Given the description of an element on the screen output the (x, y) to click on. 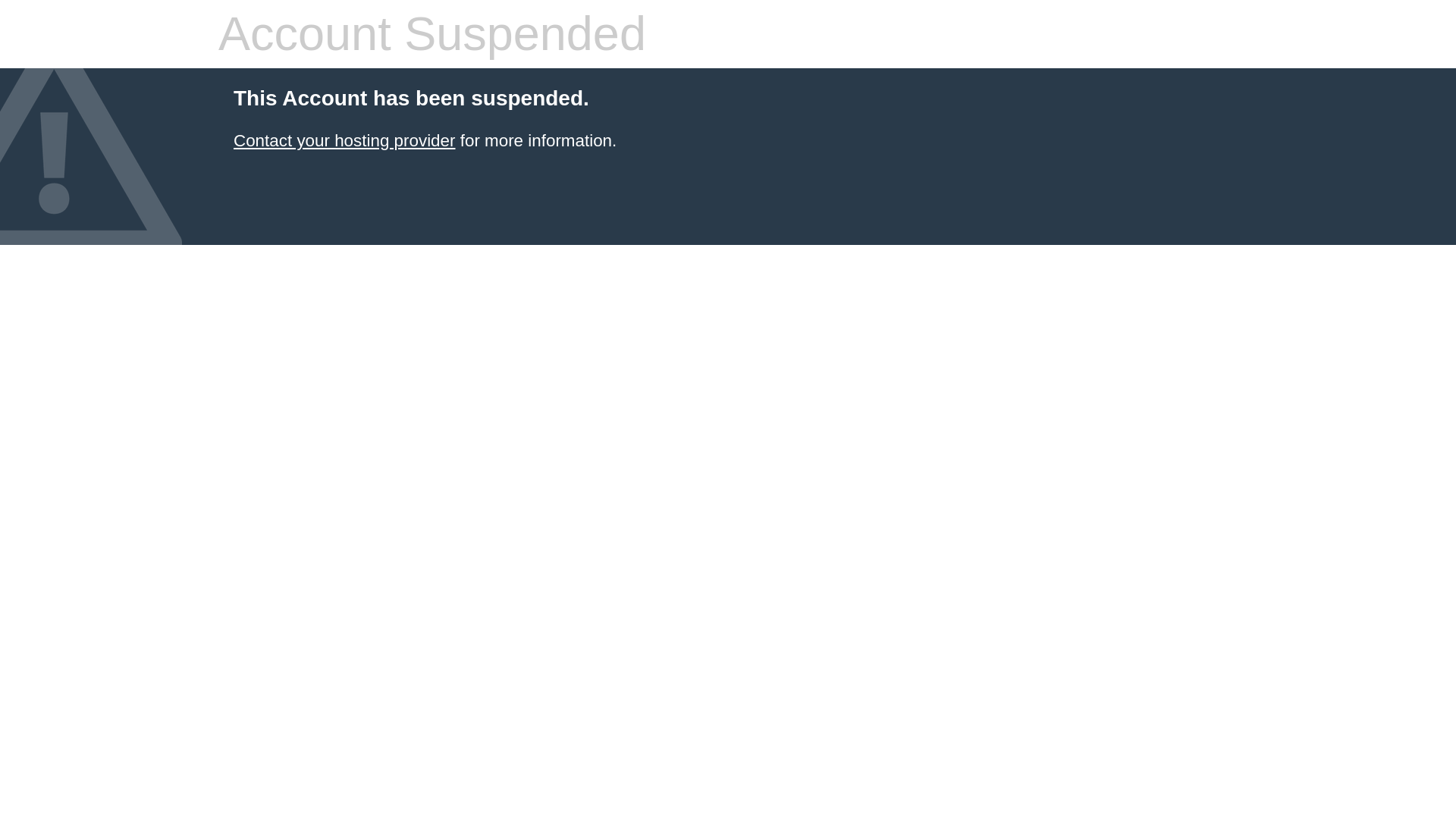
Contact your hosting provider (343, 140)
